Given the description of an element on the screen output the (x, y) to click on. 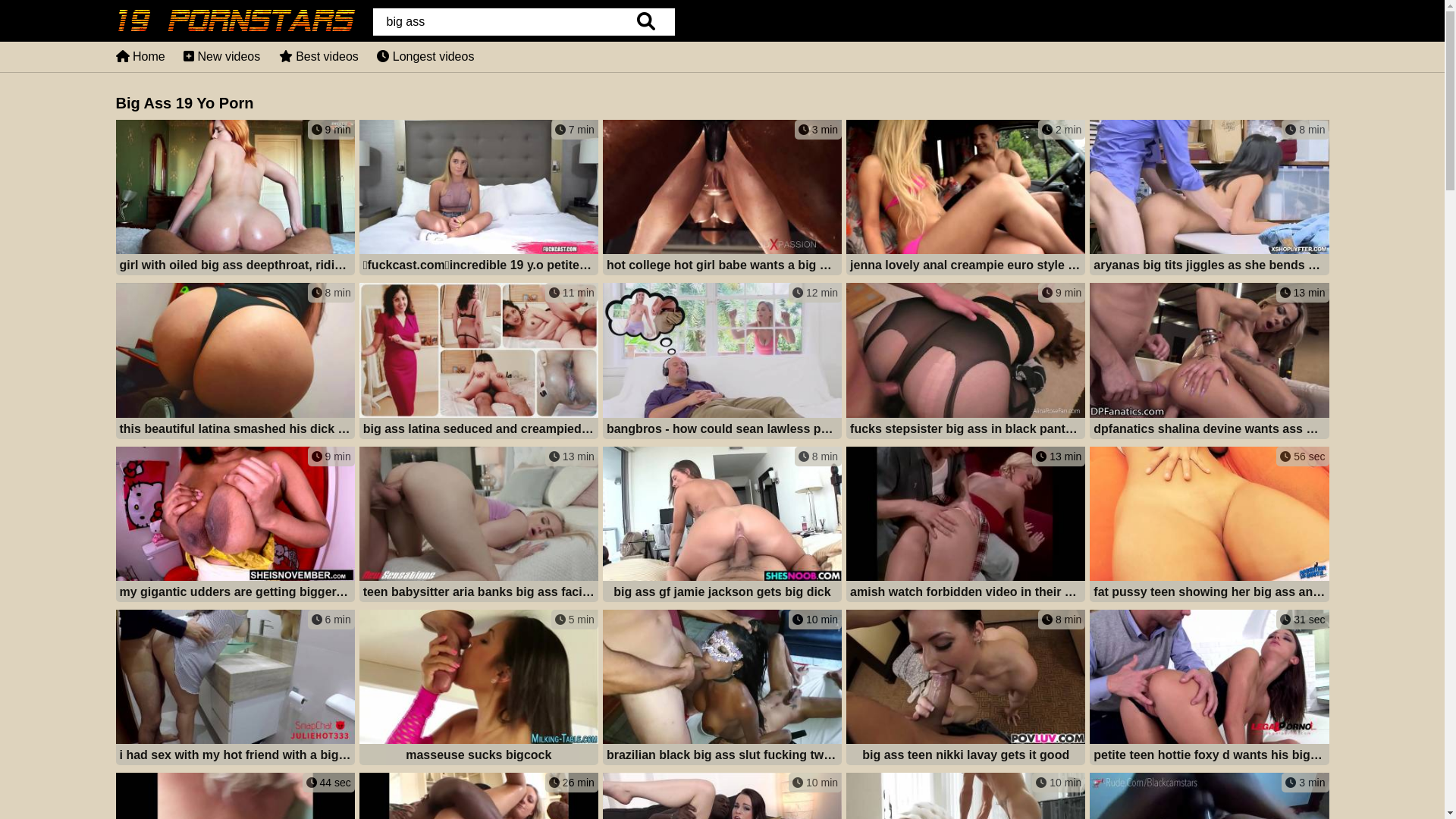
Longest videos Element type: text (424, 56)
8 min
big ass teen nikki lavay gets it good Element type: text (965, 688)
13 min
teen babysitter aria banks big ass facial slut Element type: text (478, 525)
Best videos Element type: text (318, 56)
8 min
big ass gf jamie jackson gets big dick Element type: text (721, 525)
5 min
masseuse sucks bigcock Element type: text (478, 688)
New videos Element type: text (221, 56)
Home Element type: text (139, 56)
3 min
hot college hot girl babe wants a big cock in her ass Element type: text (721, 198)
56 sec
fat pussy teen showing her big ass and sexy body Element type: text (1208, 525)
9 min
fucks stepsister big ass in black pantyhose Element type: text (965, 361)
